Given the description of an element on the screen output the (x, y) to click on. 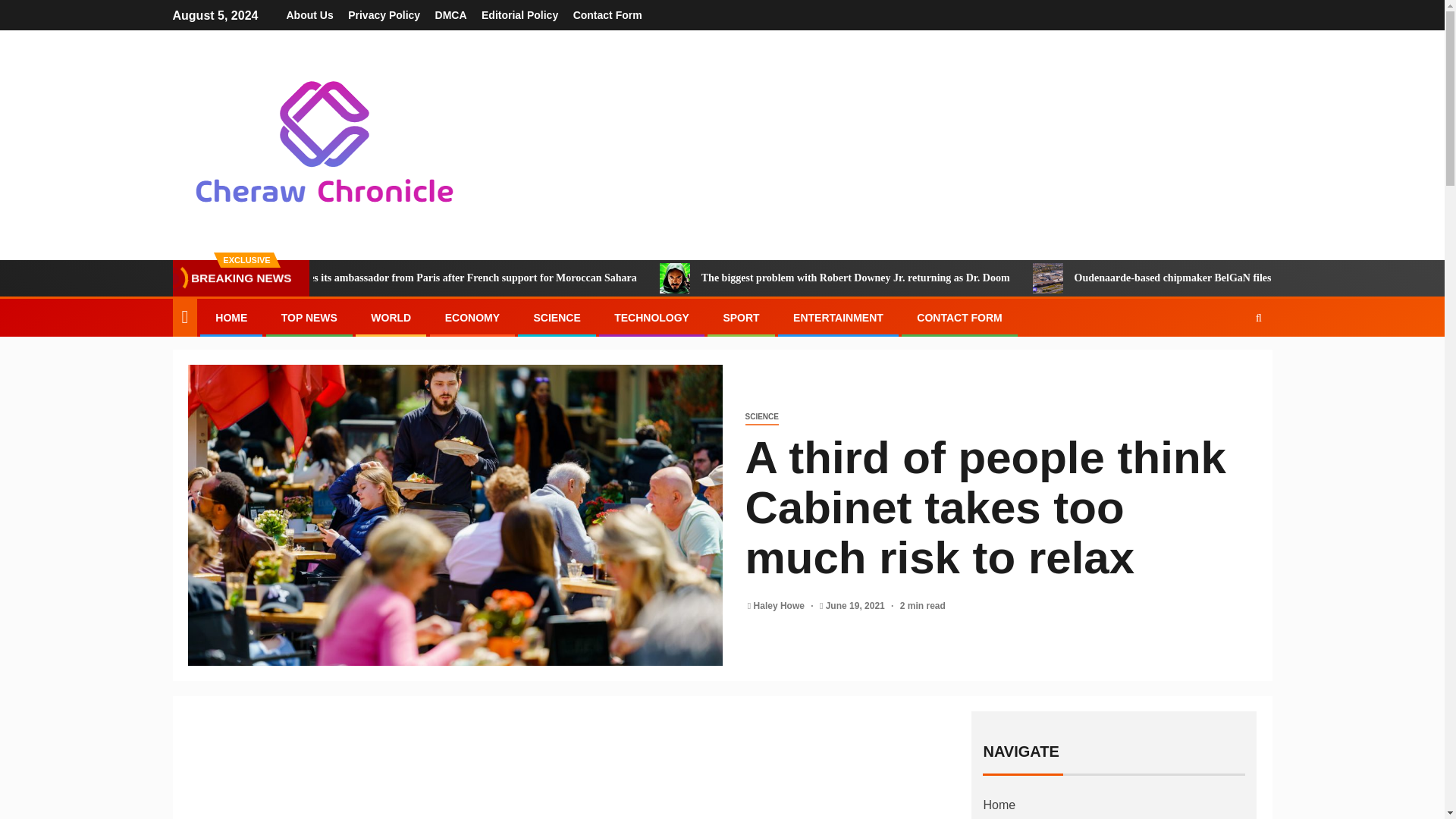
SCIENCE (760, 417)
WORLD (390, 317)
Search (1229, 363)
ENTERTAINMENT (838, 317)
HOME (231, 317)
About Us (309, 15)
ECONOMY (472, 317)
Haley Howe (781, 605)
DMCA (451, 15)
Contact Form (607, 15)
CONTACT FORM (960, 317)
TOP NEWS (309, 317)
SPORT (740, 317)
